Given the description of an element on the screen output the (x, y) to click on. 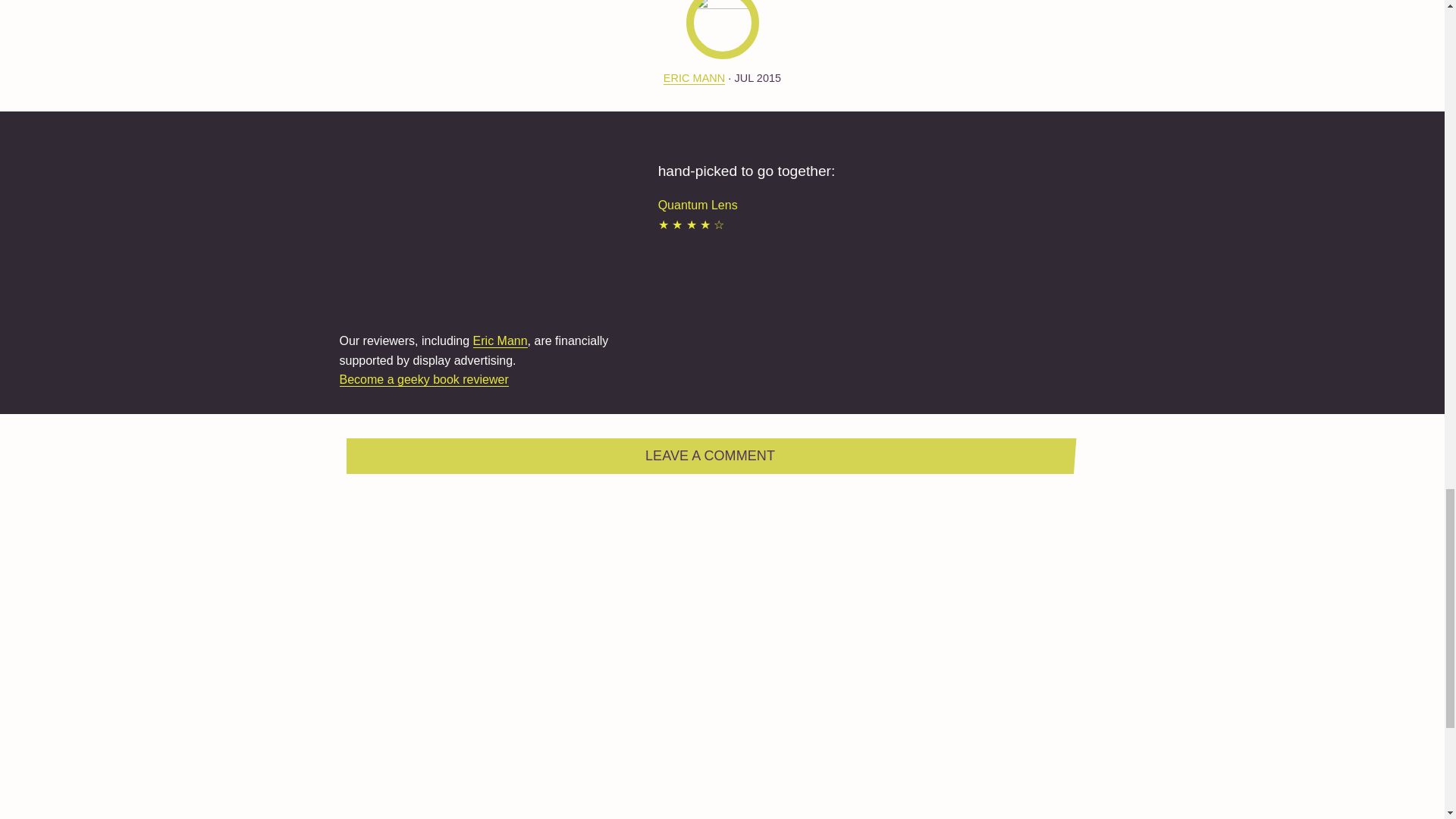
Eric Mann (500, 341)
Wed, 01 Jul 2015 14:09:42 -0700 (756, 78)
Posts by Eric Mann (694, 78)
ERIC MANN (694, 78)
Become a geeky book reviewer (423, 379)
